Given the description of an element on the screen output the (x, y) to click on. 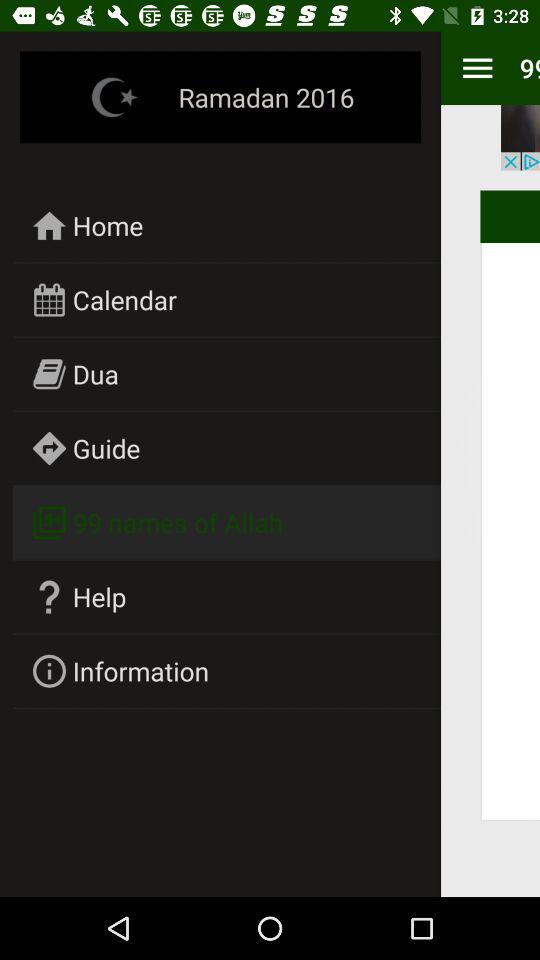
turn off the item next to the greatest name item (141, 670)
